Given the description of an element on the screen output the (x, y) to click on. 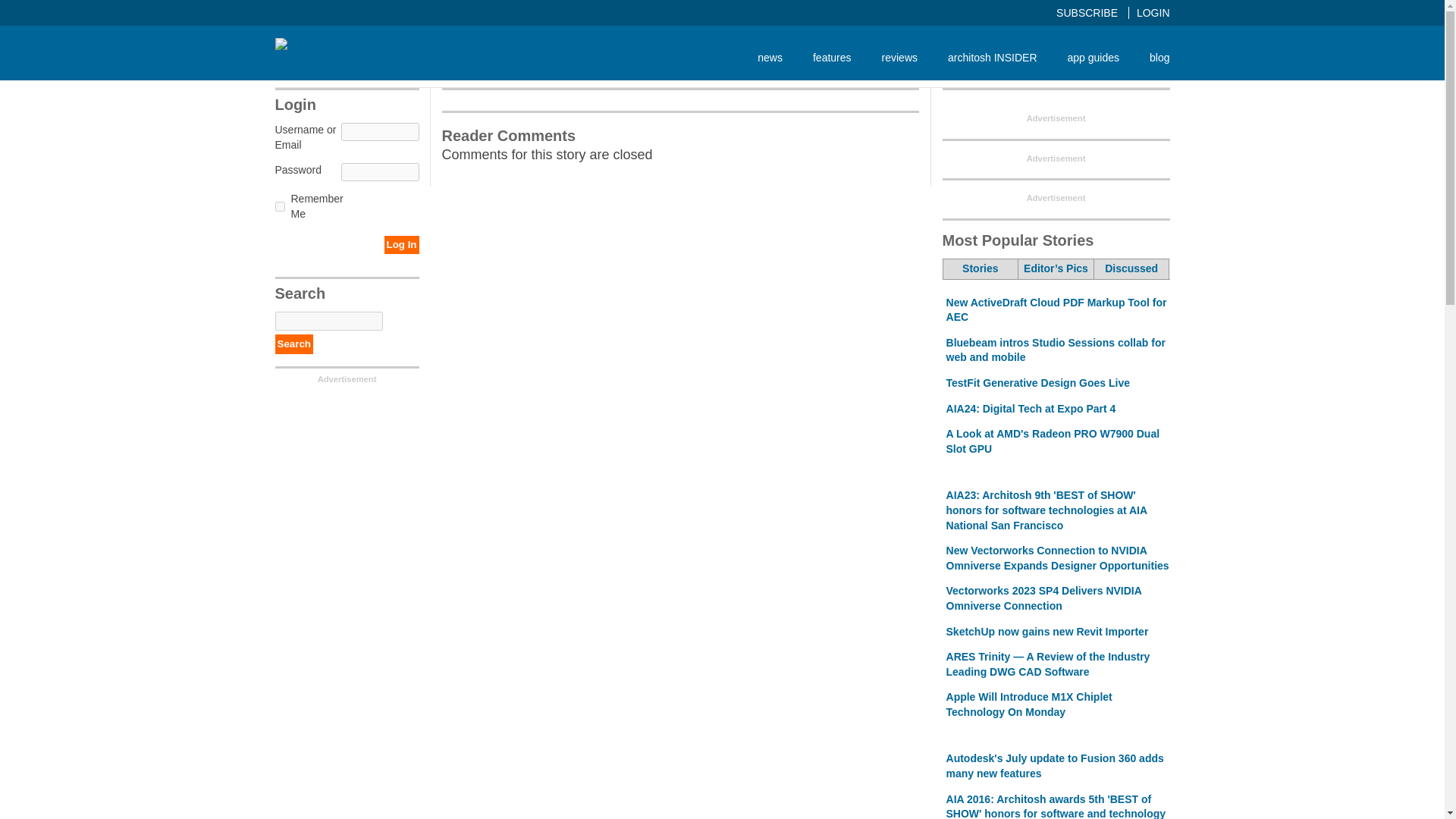
LOGIN (1153, 12)
Architosh (305, 45)
Stories (980, 269)
reviews (899, 56)
blog (1151, 56)
Log In (401, 244)
Search (294, 343)
architosh INSIDER (992, 56)
SUBSCRIBE (1093, 12)
news (769, 56)
